Given the description of an element on the screen output the (x, y) to click on. 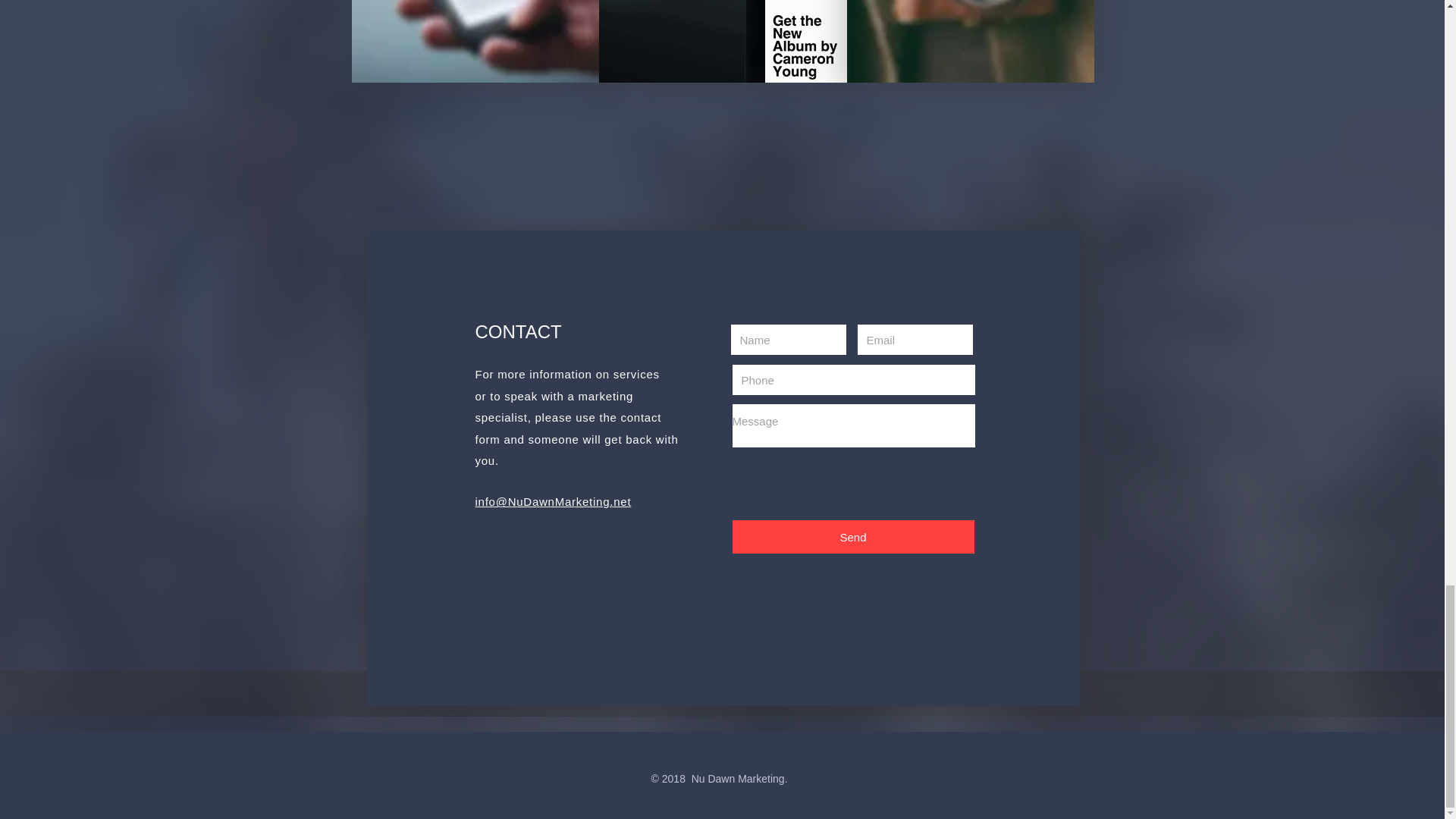
Send (853, 536)
